Given the description of an element on the screen output the (x, y) to click on. 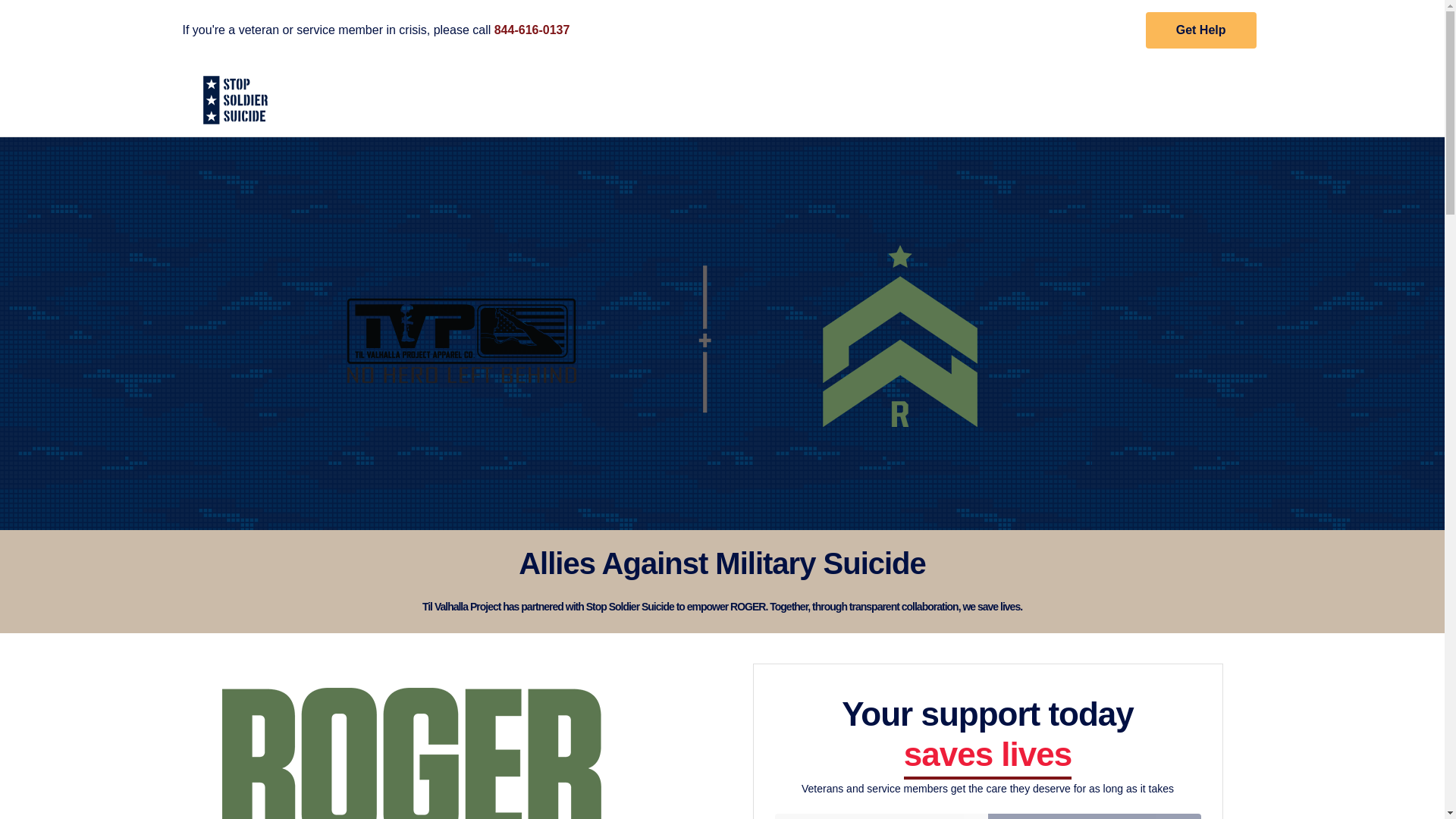
Give Once (881, 816)
Get Help (1200, 30)
844-616-0137 (538, 30)
Monthly (1093, 816)
